Given the description of an element on the screen output the (x, y) to click on. 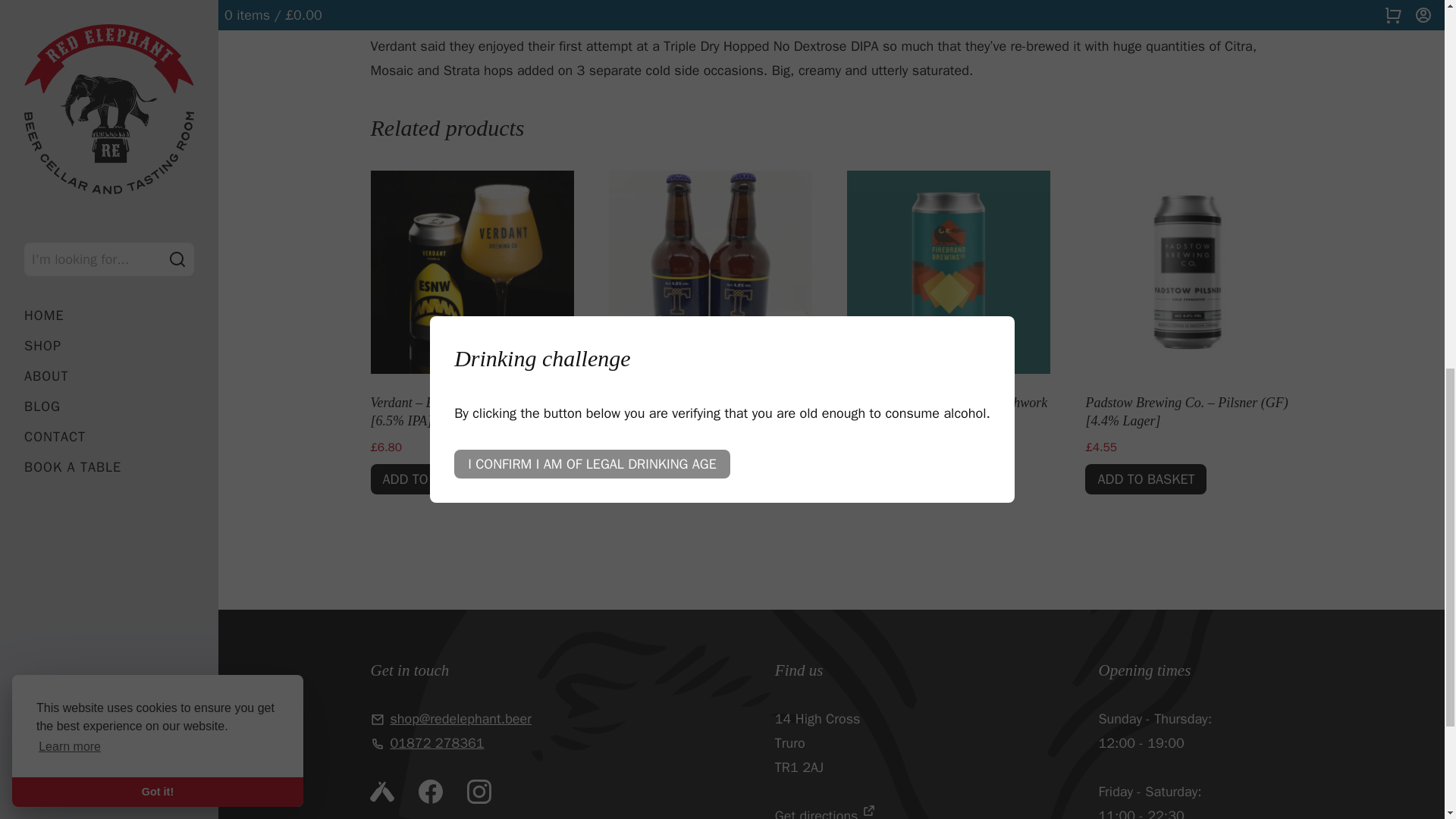
ADD TO BASKET (669, 479)
ADD TO BASKET (430, 479)
